Given the description of an element on the screen output the (x, y) to click on. 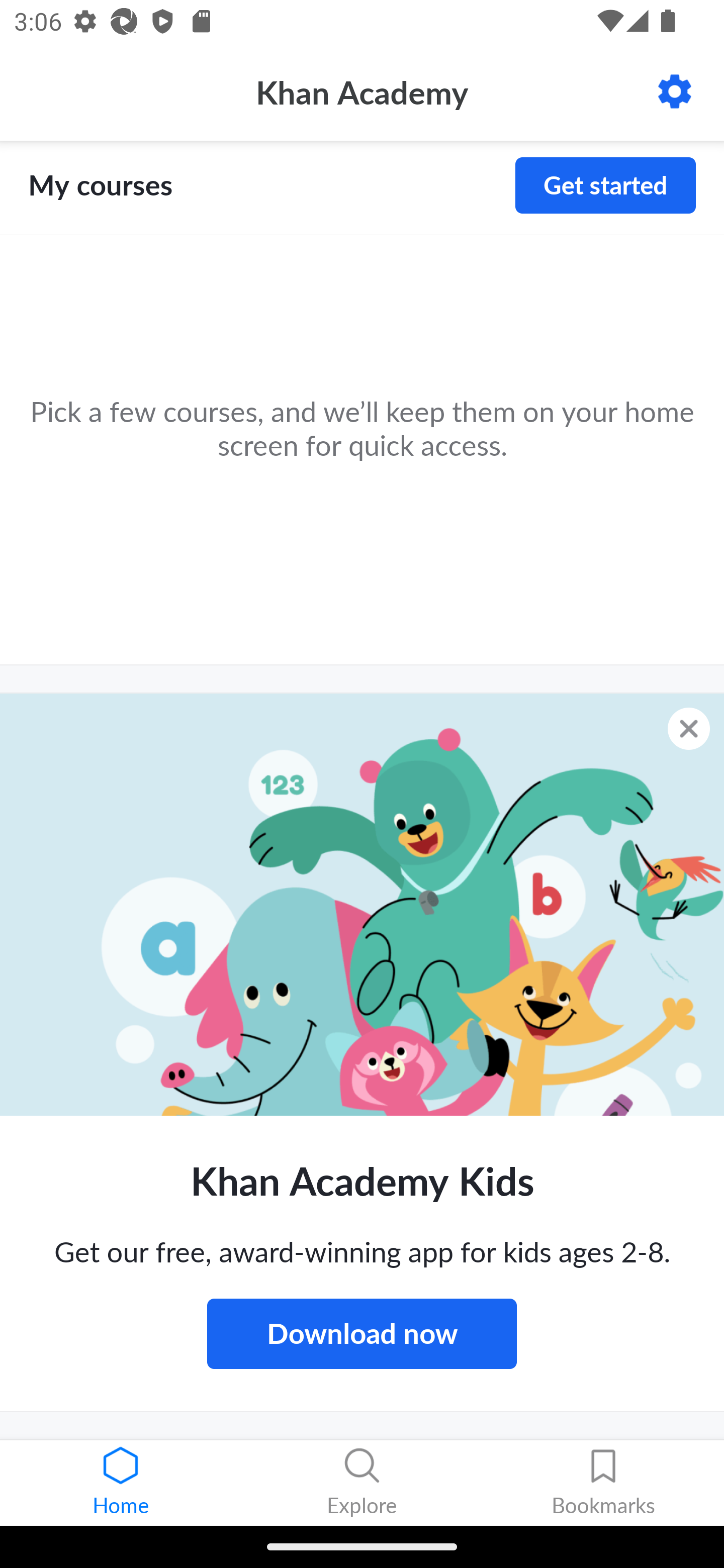
Settings (674, 91)
Get started (605, 184)
Dismiss (688, 728)
Download now (361, 1333)
Home (120, 1482)
Explore (361, 1482)
Bookmarks (603, 1482)
